Given the description of an element on the screen output the (x, y) to click on. 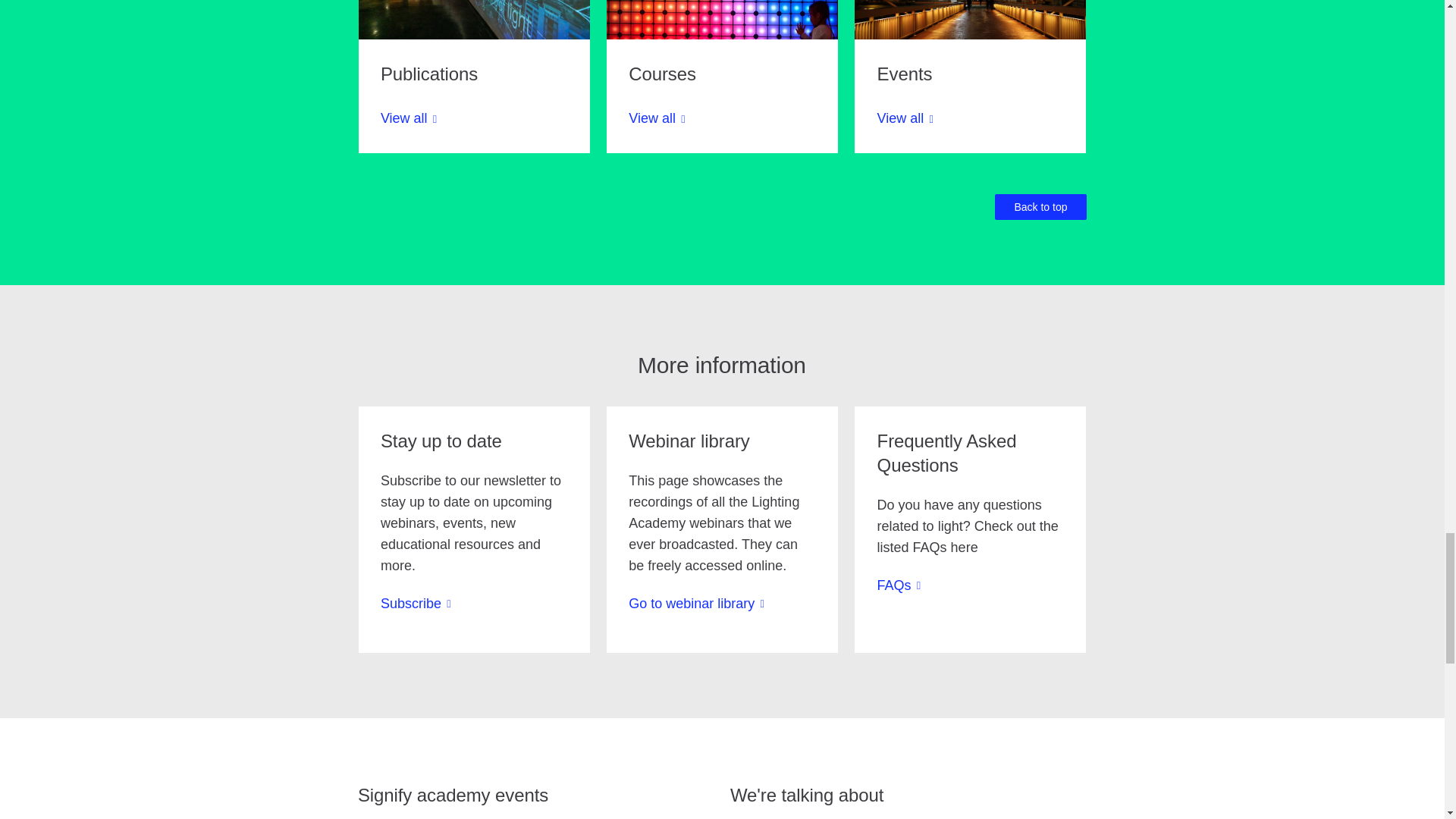
Back to top (1040, 207)
FAQs (898, 585)
View all (656, 129)
View all (408, 129)
Go to webinar library (696, 604)
View all (905, 129)
Subscribe (415, 604)
Back to top (1040, 207)
